Given the description of an element on the screen output the (x, y) to click on. 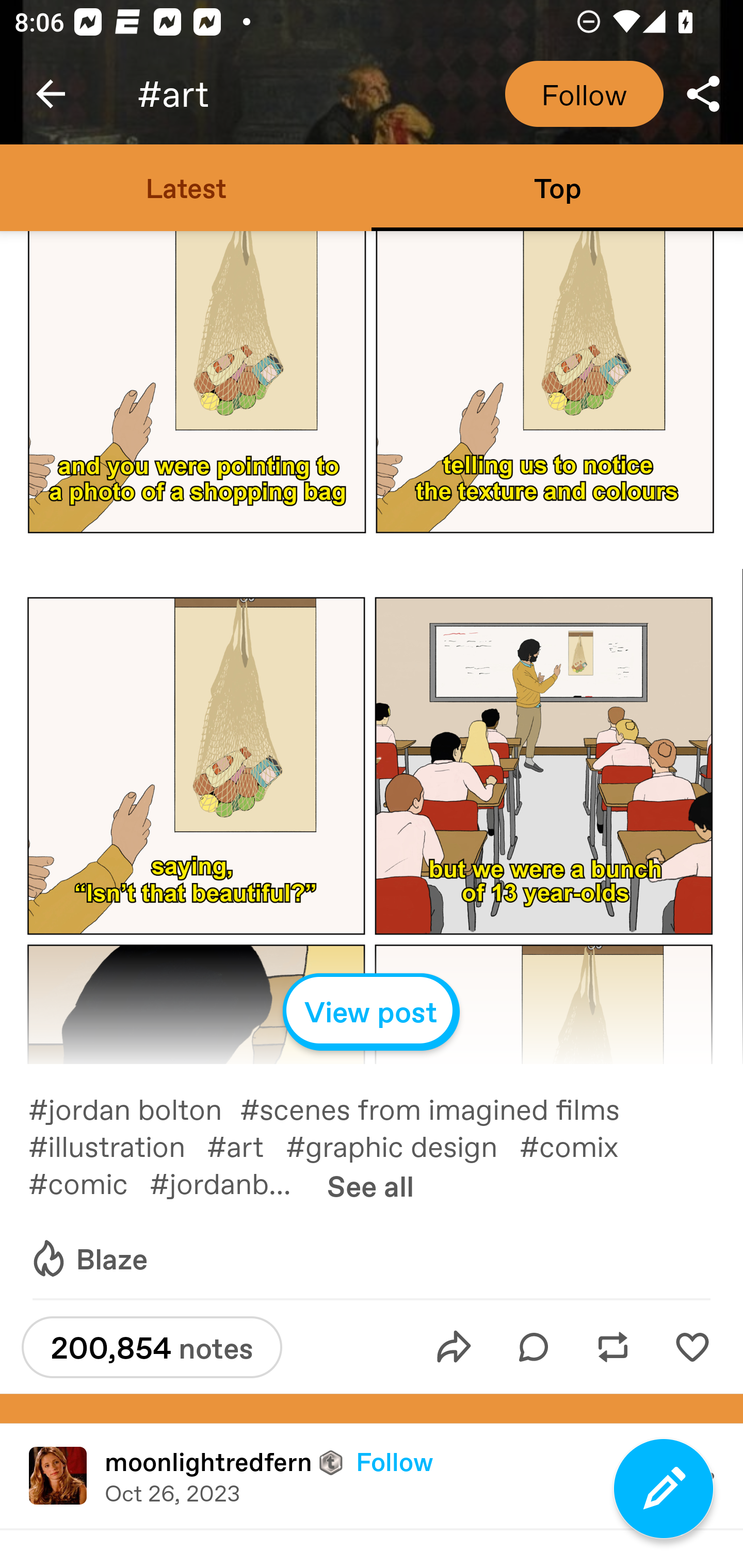
Navigate up (50, 93)
Follow (584, 94)
Latest (185, 187)
View post (371, 1012)
#jordan bolton (133, 1108)
#scenes from imagined films (440, 1108)
#illustration (117, 1145)
#art (246, 1145)
#graphic design (402, 1145)
#comix (579, 1145)
#comic (88, 1182)
#jordanb… (230, 1182)
See all (369, 1185)
Blaze Blaze Blaze (88, 1258)
Share post to message (454, 1346)
Reply (533, 1346)
Reblog (612, 1346)
Like (691, 1346)
200,854 notes (151, 1346)
Compose a new post (663, 1488)
Follow (394, 1461)
